Given the description of an element on the screen output the (x, y) to click on. 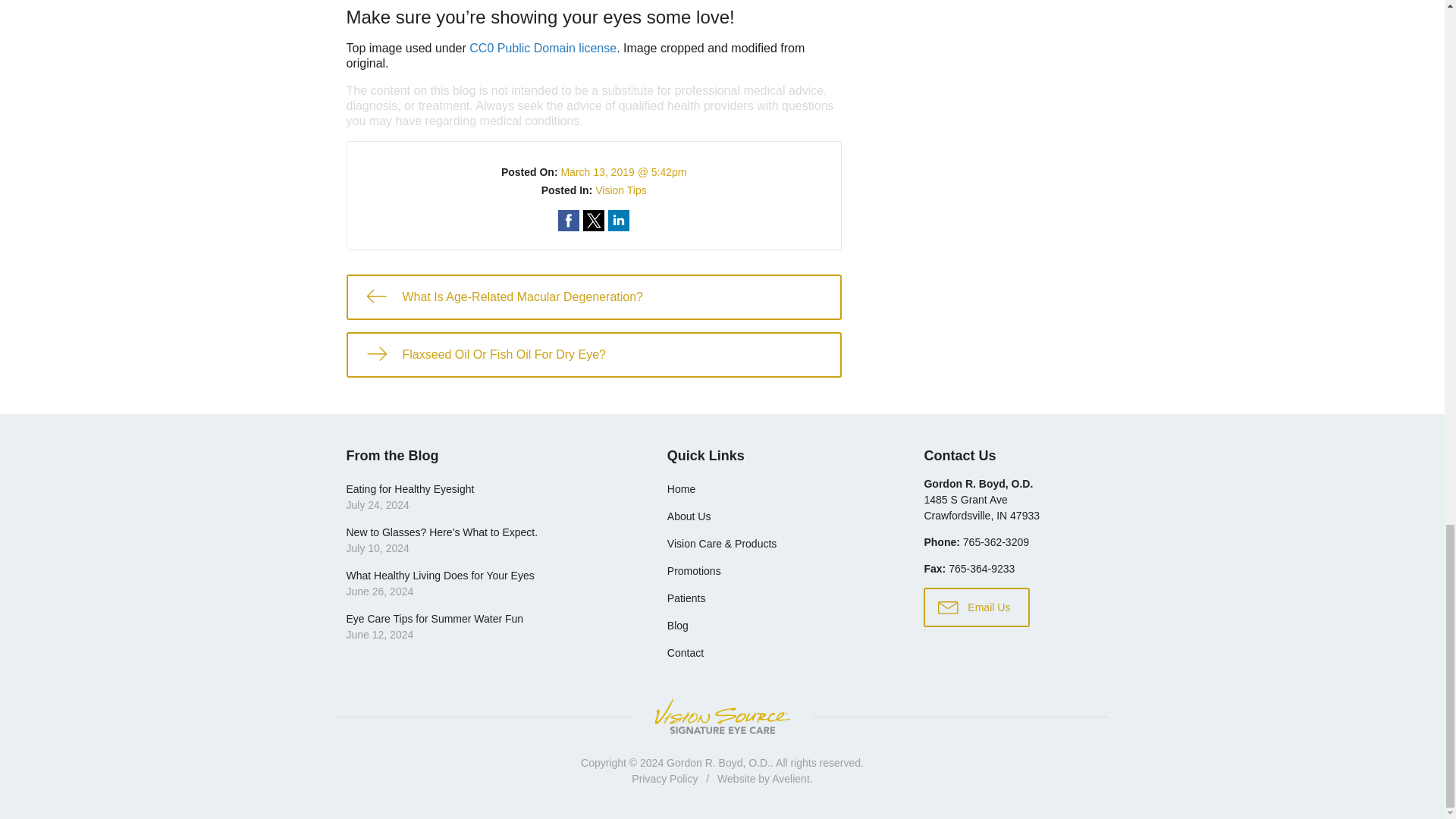
Share on Twitter (485, 496)
Powered by Avelient (593, 219)
Flaxseed Oil Or Fish Oil For Dry Eye? (790, 778)
Share on Twitter (593, 354)
Contact practice (593, 219)
Open this address in Google Maps (995, 541)
Share on LinkedIn (981, 507)
Share on Facebook (618, 219)
Vision Tips (568, 219)
Share on LinkedIn (620, 190)
CC0 Public Domain license (618, 219)
What Is Age-Related Macular Degeneration? (541, 47)
Share on Facebook (593, 297)
